Given the description of an element on the screen output the (x, y) to click on. 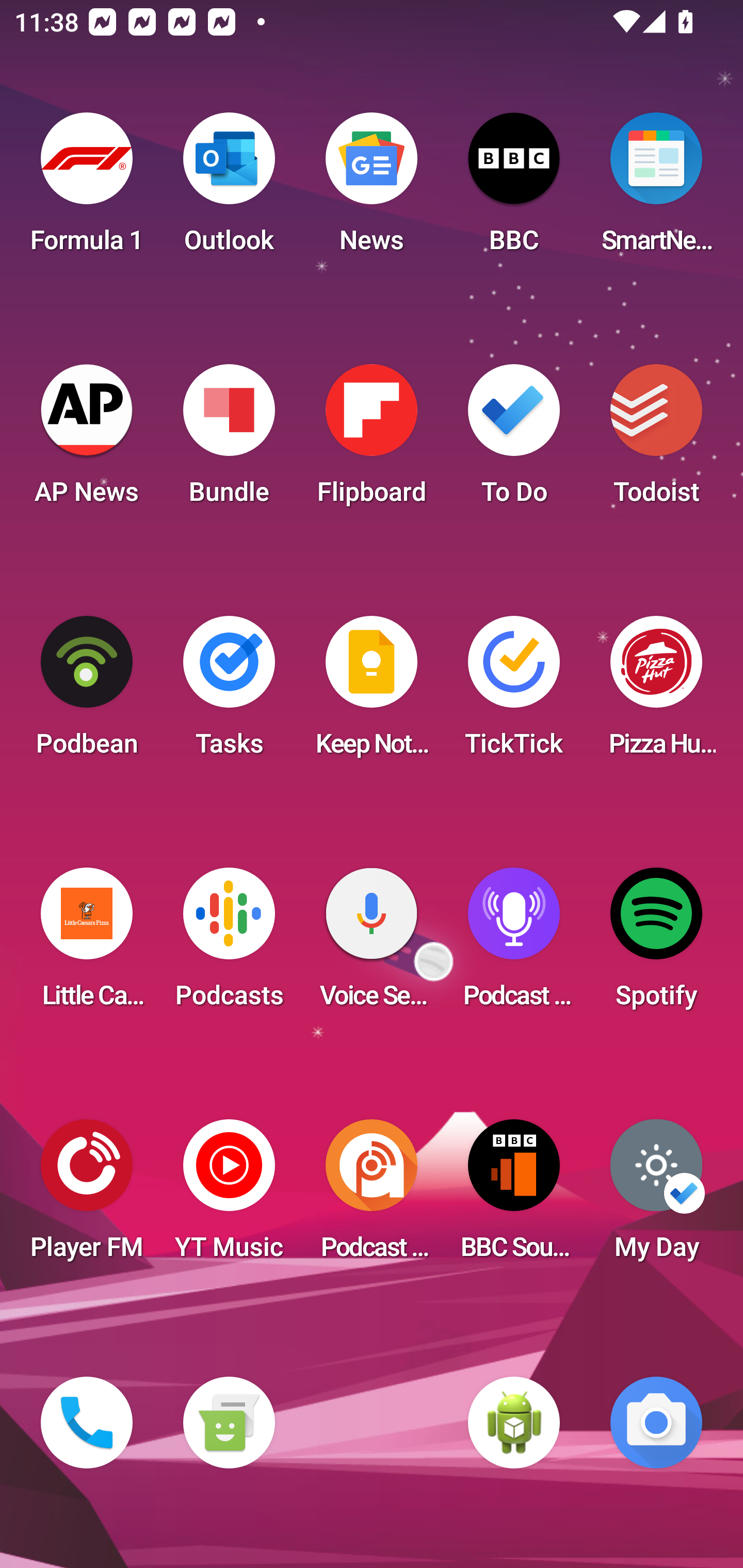
Formula 1 (86, 188)
Outlook (228, 188)
News (371, 188)
BBC (513, 188)
SmartNews (656, 188)
AP News (86, 440)
Bundle (228, 440)
Flipboard (371, 440)
To Do (513, 440)
Todoist (656, 440)
Podbean (86, 692)
Tasks (228, 692)
Keep Notes (371, 692)
TickTick (513, 692)
Pizza Hut HK & Macau (656, 692)
Little Caesars Pizza (86, 943)
Podcasts (228, 943)
Voice Search (371, 943)
Podcast Player (513, 943)
Spotify (656, 943)
Player FM (86, 1195)
YT Music (228, 1195)
Podcast Addict (371, 1195)
BBC Sounds (513, 1195)
My Day (656, 1195)
Phone (86, 1422)
Messaging (228, 1422)
WebView Browser Tester (513, 1422)
Camera (656, 1422)
